Given the description of an element on the screen output the (x, y) to click on. 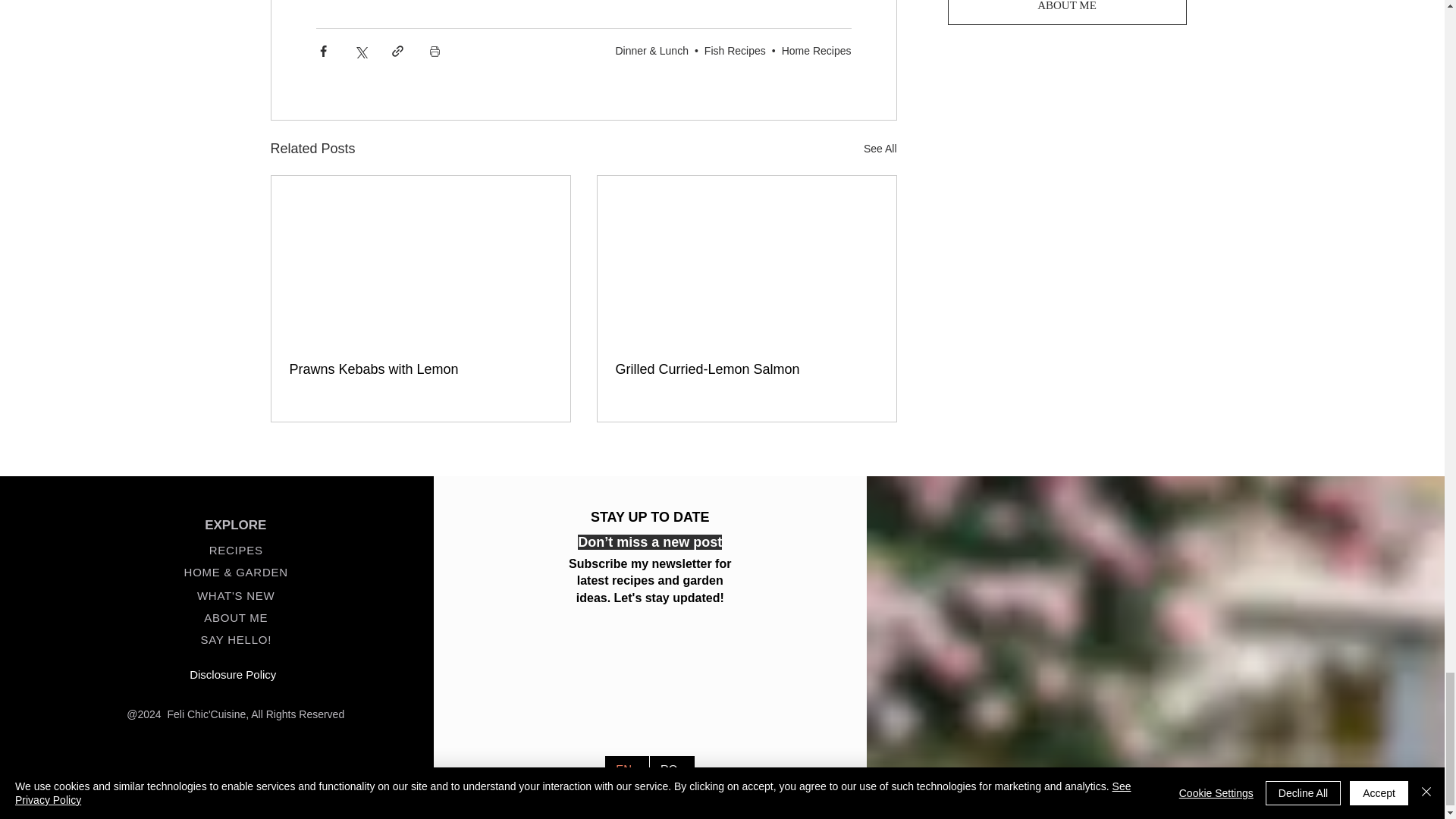
Fish Recipes (734, 50)
Home Recipes (816, 50)
Prawns Kebabs with Lemon (420, 369)
See All (879, 148)
Grilled Curried-Lemon Salmon (746, 369)
